Given the description of an element on the screen output the (x, y) to click on. 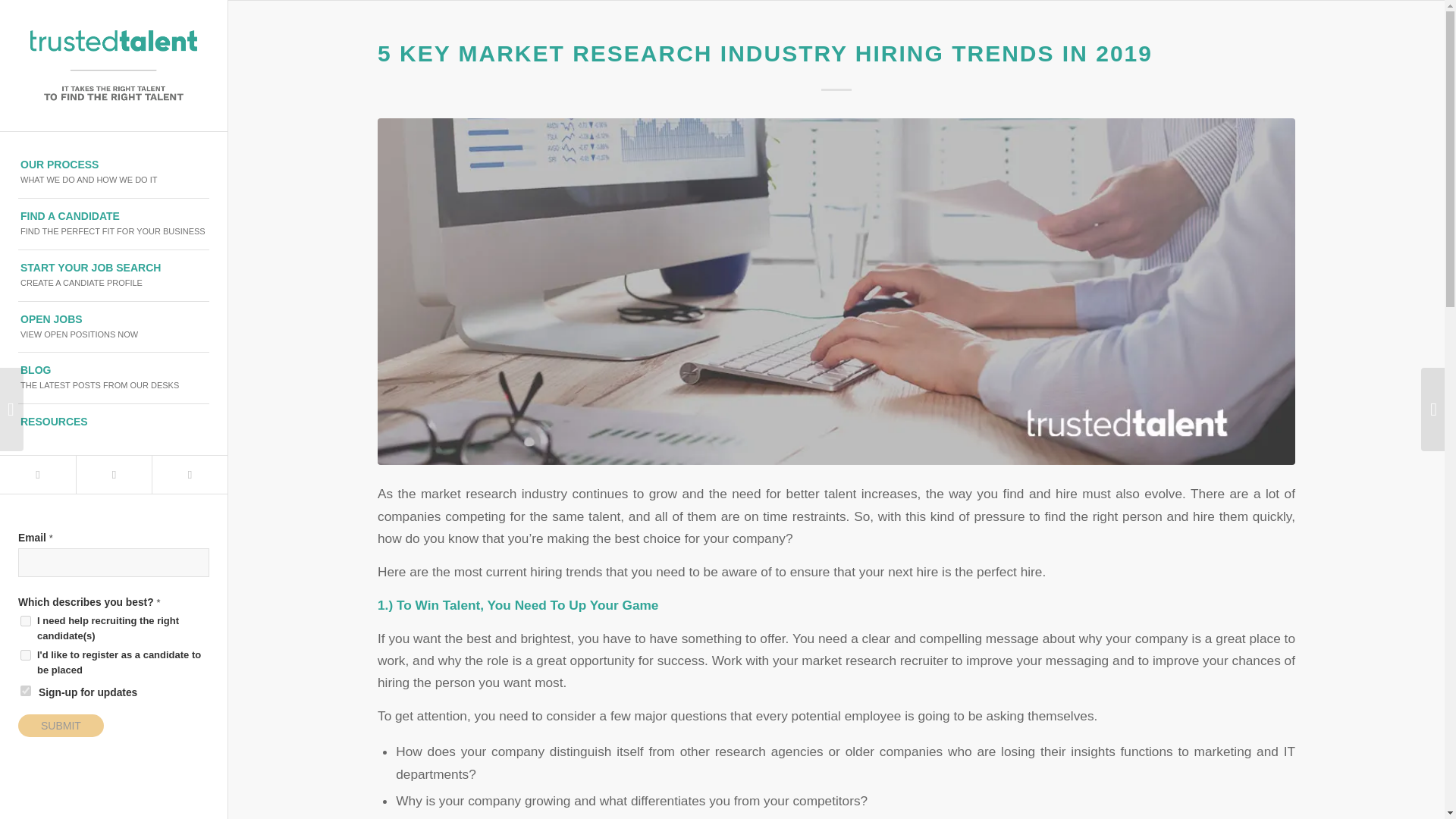
5 KEY MARKET RESEARCH INDUSTRY HIRING TRENDS IN 2019 (113, 327)
Twitter (113, 276)
Mail (765, 53)
1 (37, 474)
I'd like to register as a candidate to be placed (113, 474)
